Given the description of an element on the screen output the (x, y) to click on. 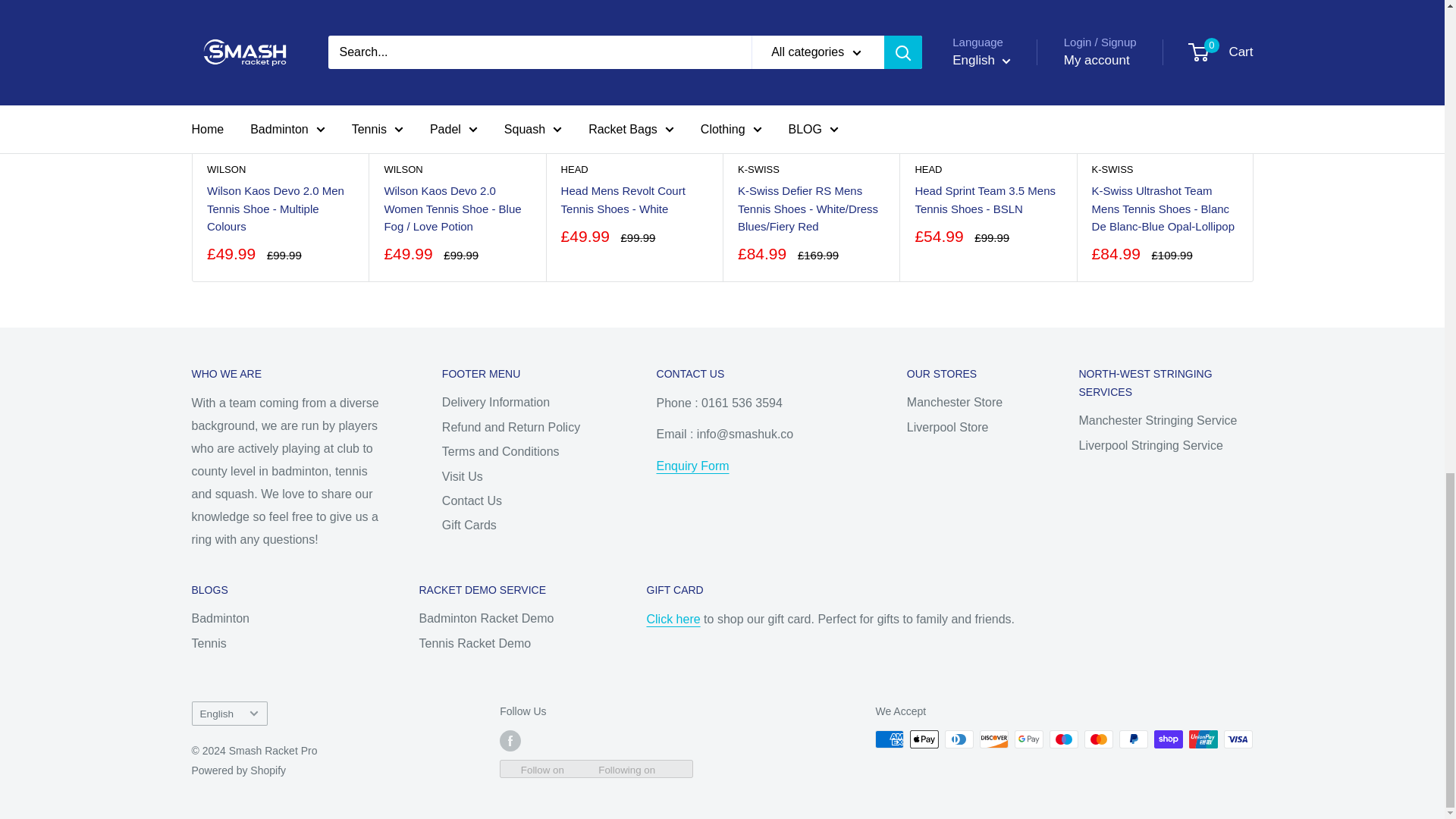
Contact Us (692, 465)
